Given the description of an element on the screen output the (x, y) to click on. 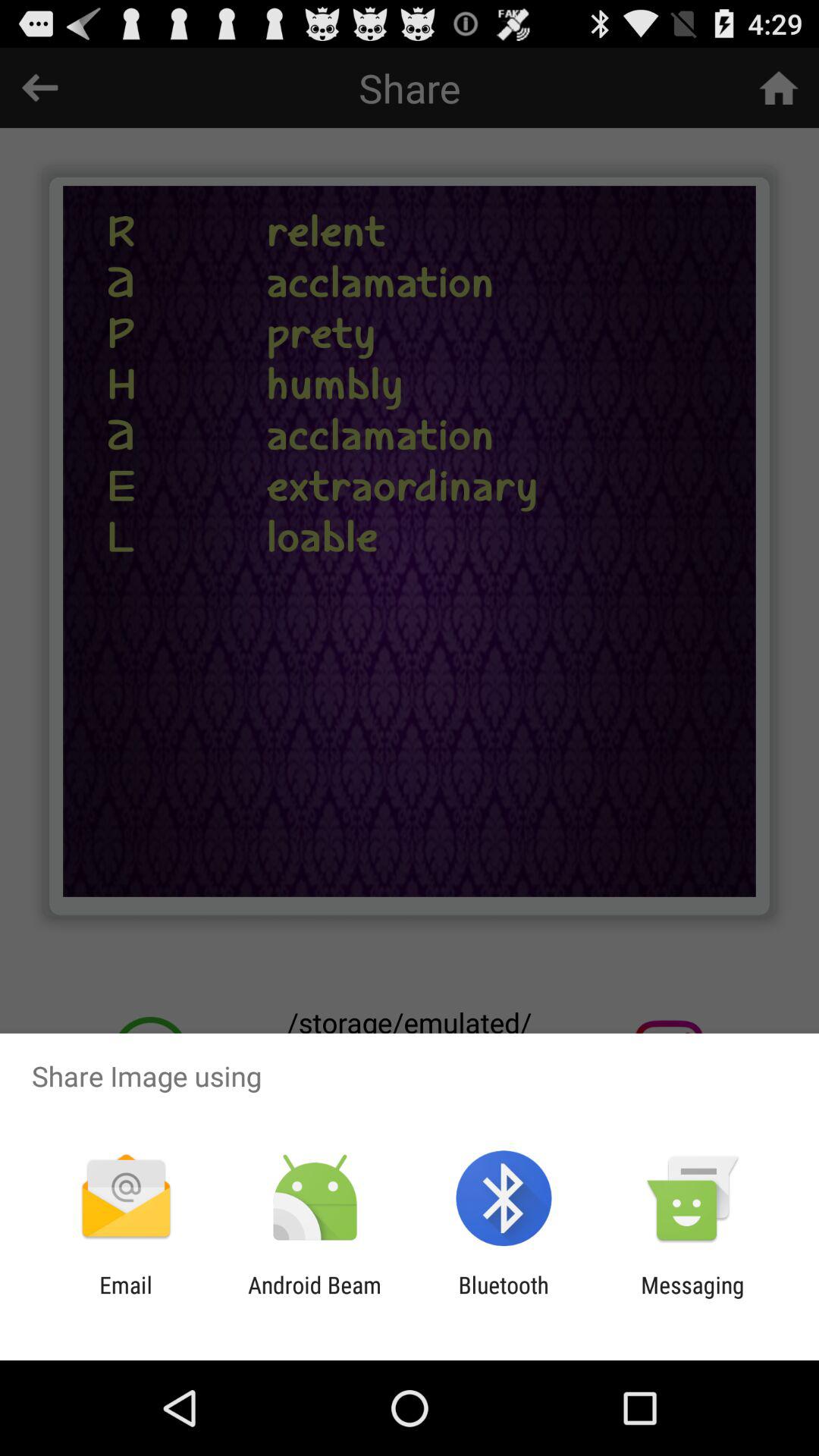
tap app next to android beam app (125, 1298)
